Given the description of an element on the screen output the (x, y) to click on. 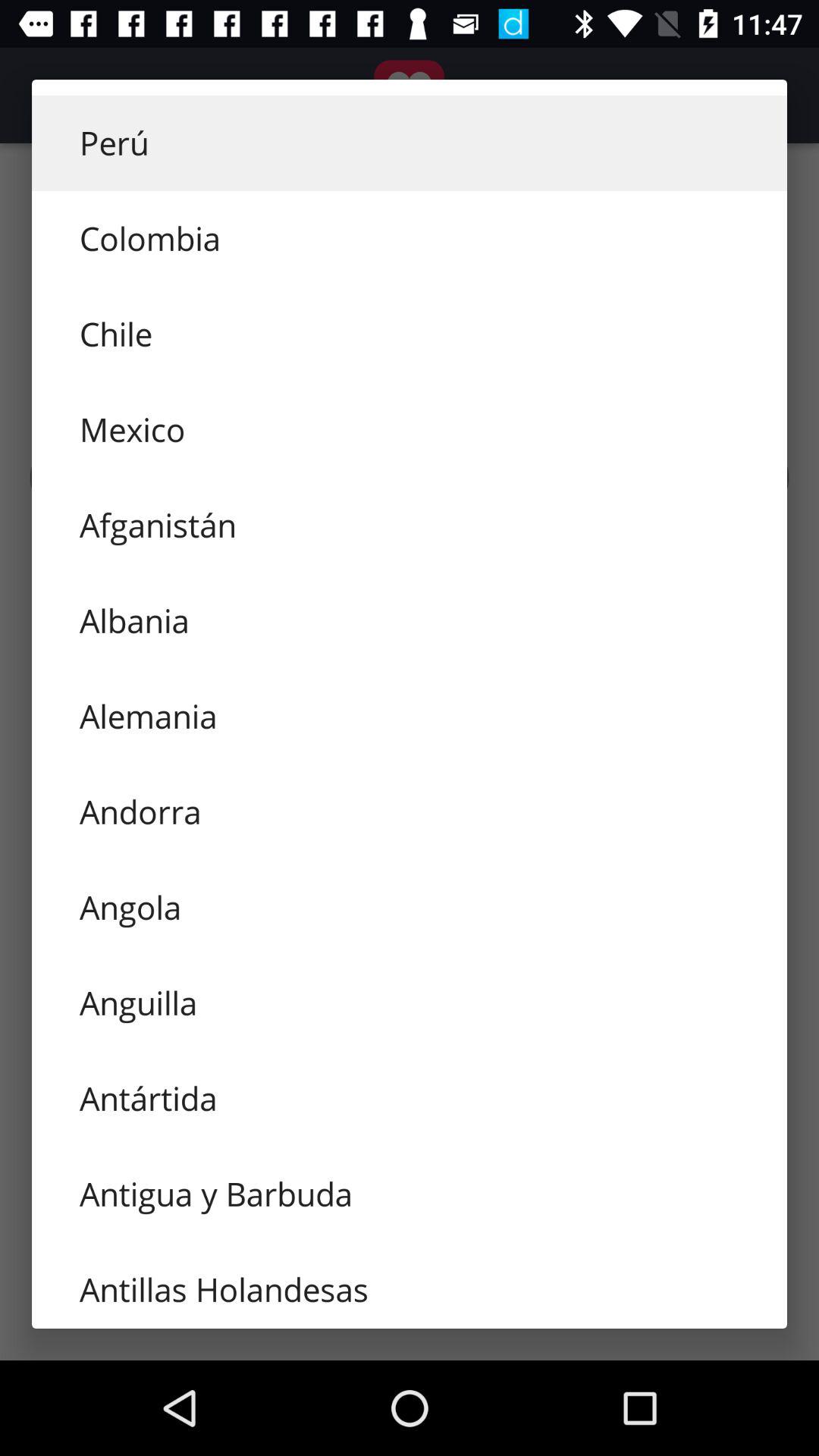
scroll to the antigua y barbuda (409, 1194)
